Given the description of an element on the screen output the (x, y) to click on. 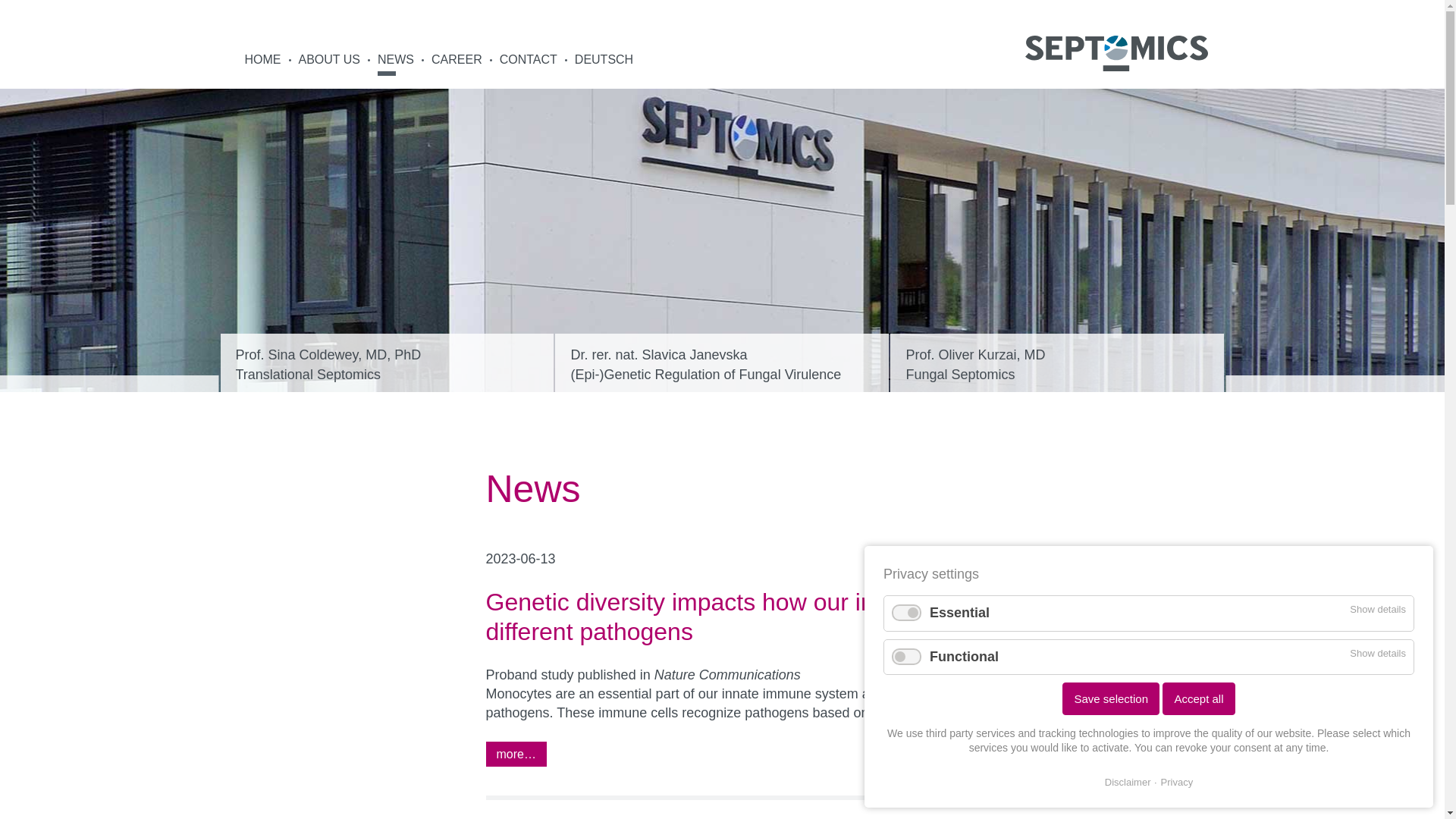
Skip navigation (1056, 362)
Deutsch (529, 64)
News (600, 64)
Contact (396, 64)
Translational Septomics (386, 362)
Home (529, 64)
HOME (386, 362)
SEPTOMICS (1116, 51)
NEWS (262, 64)
Home (1116, 53)
DEUTSCH (396, 64)
ABOUT US (262, 64)
